Given the description of an element on the screen output the (x, y) to click on. 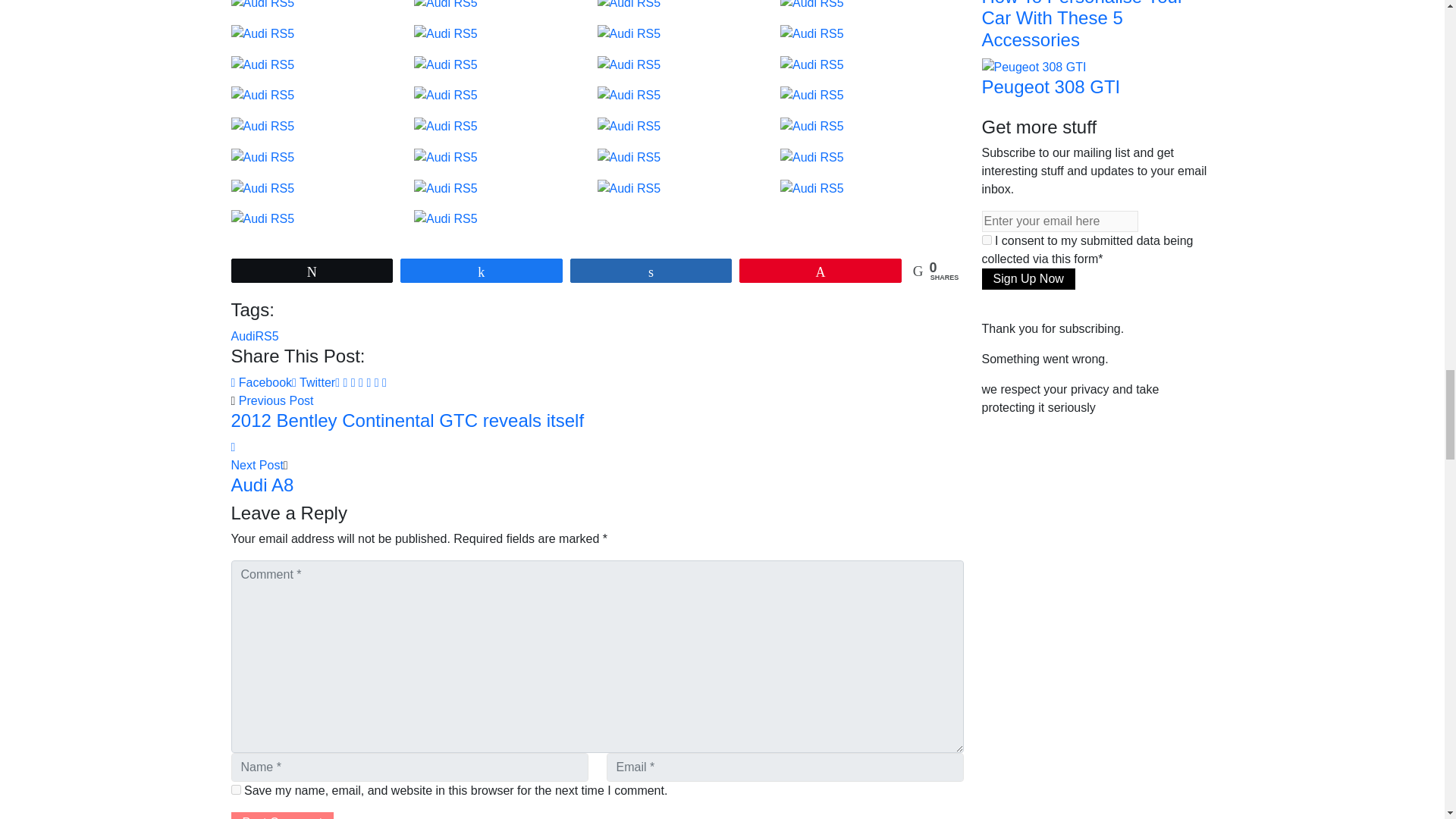
yes (235, 789)
on (986, 239)
Sign Up Now (1027, 278)
Post Comment (281, 815)
